Given the description of an element on the screen output the (x, y) to click on. 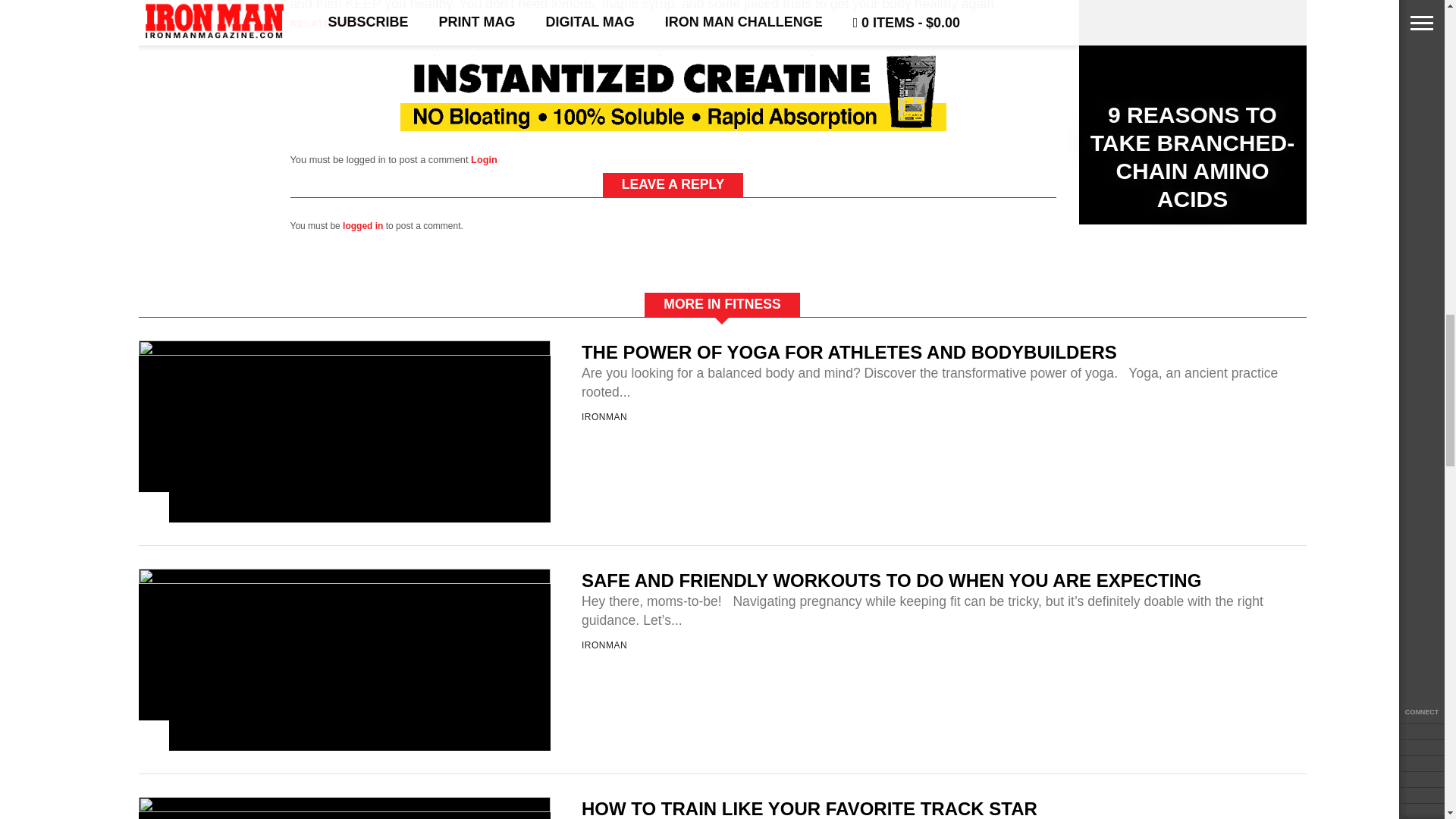
Safe and Friendly Workouts to Do When You Are Expecting (344, 579)
Instantized Creatine - Gains In Bulk (673, 126)
The Power of Yoga For Athletes and Bodybuilders (344, 350)
